Given the description of an element on the screen output the (x, y) to click on. 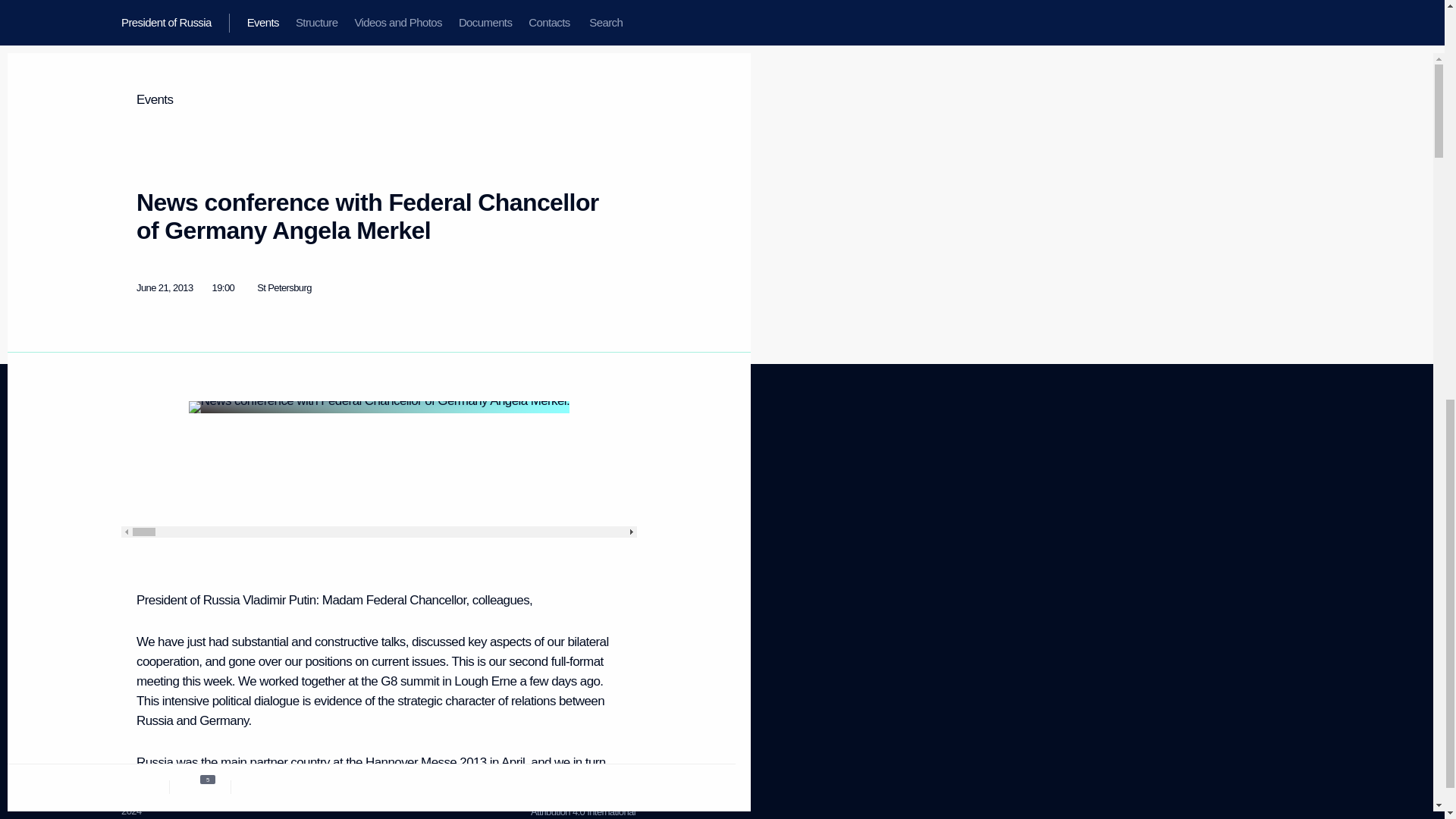
YouTube Channel (432, 514)
Subscribe (142, 646)
Structure (140, 500)
Directory (140, 665)
Contacts (140, 556)
Events (317, 487)
About website (135, 480)
Documents (561, 480)
Contact website team (145, 537)
Creative Commons Attribution 4.0 International (578, 550)
The Constitution of Russia (572, 798)
Version for People with Disabilities (314, 512)
Personal data of website users (171, 708)
Videos and Photos (566, 525)
